Given the description of an element on the screen output the (x, y) to click on. 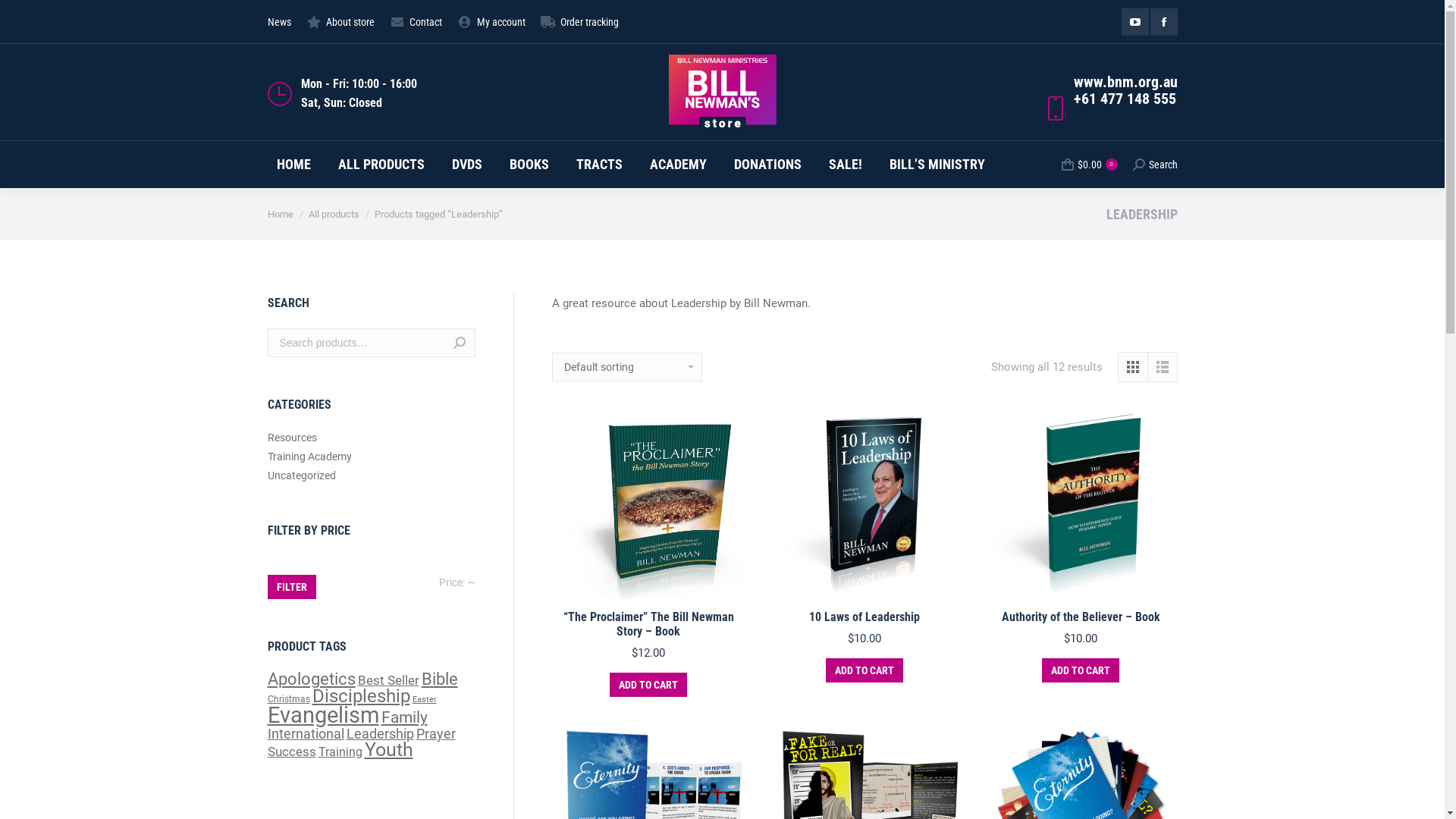
International Element type: text (304, 733)
My account Element type: text (490, 21)
10 Laws of Leadership Element type: text (864, 616)
Search Element type: text (459, 342)
Go! Element type: text (745, 450)
HOME Element type: text (292, 164)
About store Element type: text (340, 21)
ADD TO CART Element type: text (1080, 670)
ADD TO CART Element type: text (648, 684)
Family Element type: text (403, 716)
Training Element type: text (340, 751)
Search Element type: text (1154, 164)
Prayer Element type: text (435, 733)
Evangelism Element type: text (322, 715)
Order tracking Element type: text (578, 21)
TRACTS Element type: text (599, 164)
News Element type: text (278, 21)
All products Element type: text (332, 213)
Go! Element type: text (23, 15)
Apologetics Element type: text (310, 678)
DONATIONS Element type: text (767, 164)
Bible Element type: text (439, 678)
Discipleship Element type: text (361, 695)
Christmas Element type: text (287, 698)
Youth Element type: text (388, 749)
ADD TO CART Element type: text (864, 670)
Home Element type: text (279, 213)
Leadership Element type: text (379, 733)
Training Academy Element type: text (308, 456)
Facebook page opens in new window Element type: text (1162, 21)
DVDS Element type: text (466, 164)
ACADEMY Element type: text (677, 164)
Resources Element type: text (291, 437)
$0.00
0 Element type: text (1089, 164)
Contact Element type: text (415, 21)
BOOKS Element type: text (529, 164)
Success Element type: text (290, 751)
ALL PRODUCTS Element type: text (381, 164)
Best Seller Element type: text (388, 679)
FILTER Element type: text (290, 586)
YouTube page opens in new window Element type: text (1134, 21)
Uncategorized Element type: text (300, 475)
Easter Element type: text (424, 699)
SALE! Element type: text (844, 164)
